Given the description of an element on the screen output the (x, y) to click on. 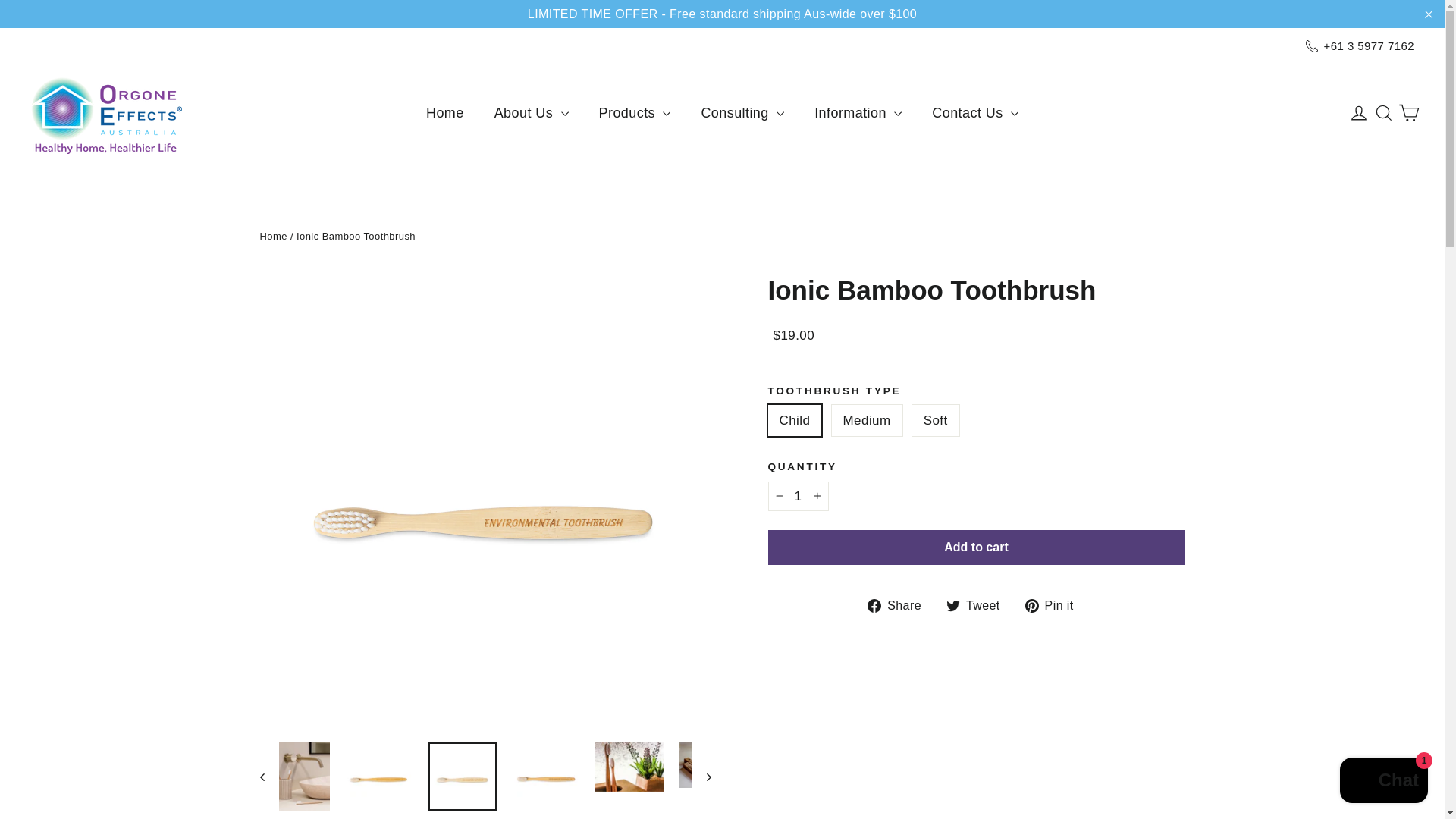
icon-X (1429, 13)
Back to the frontpage (272, 235)
1 (797, 496)
account (1359, 112)
Shopify online store chat (1383, 781)
icon-search (1383, 112)
icon-cart (1408, 112)
Tweet on Twitter (978, 605)
Pin on Pinterest (1054, 605)
twitter (952, 605)
Share on Facebook (900, 605)
